Given the description of an element on the screen output the (x, y) to click on. 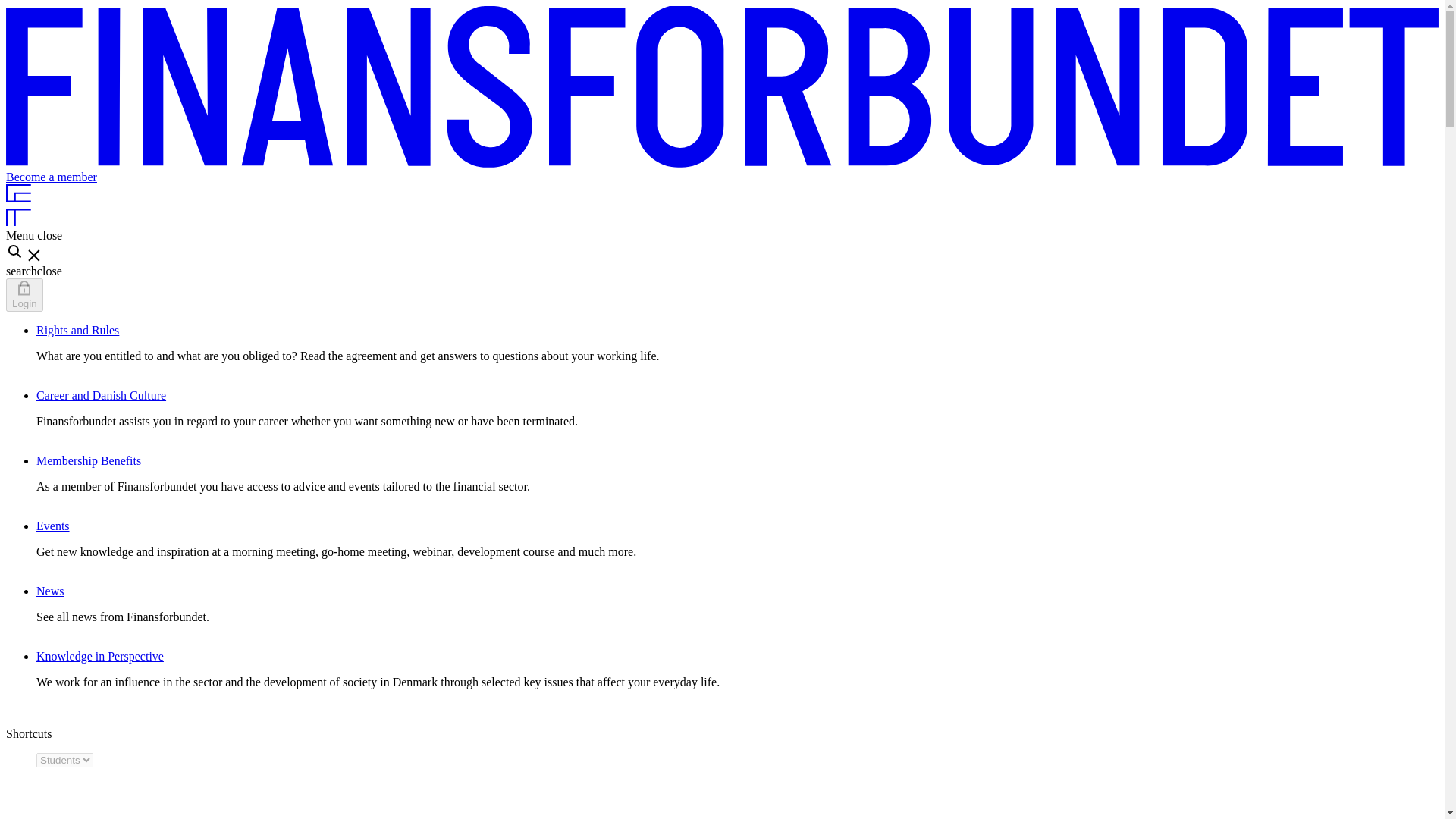
Knowledge in Perspective (99, 656)
Rights and Rules (77, 329)
Membership Benefits (88, 460)
Login (24, 295)
Events (52, 525)
Career and Danish Culture (100, 395)
News (50, 590)
